Given the description of an element on the screen output the (x, y) to click on. 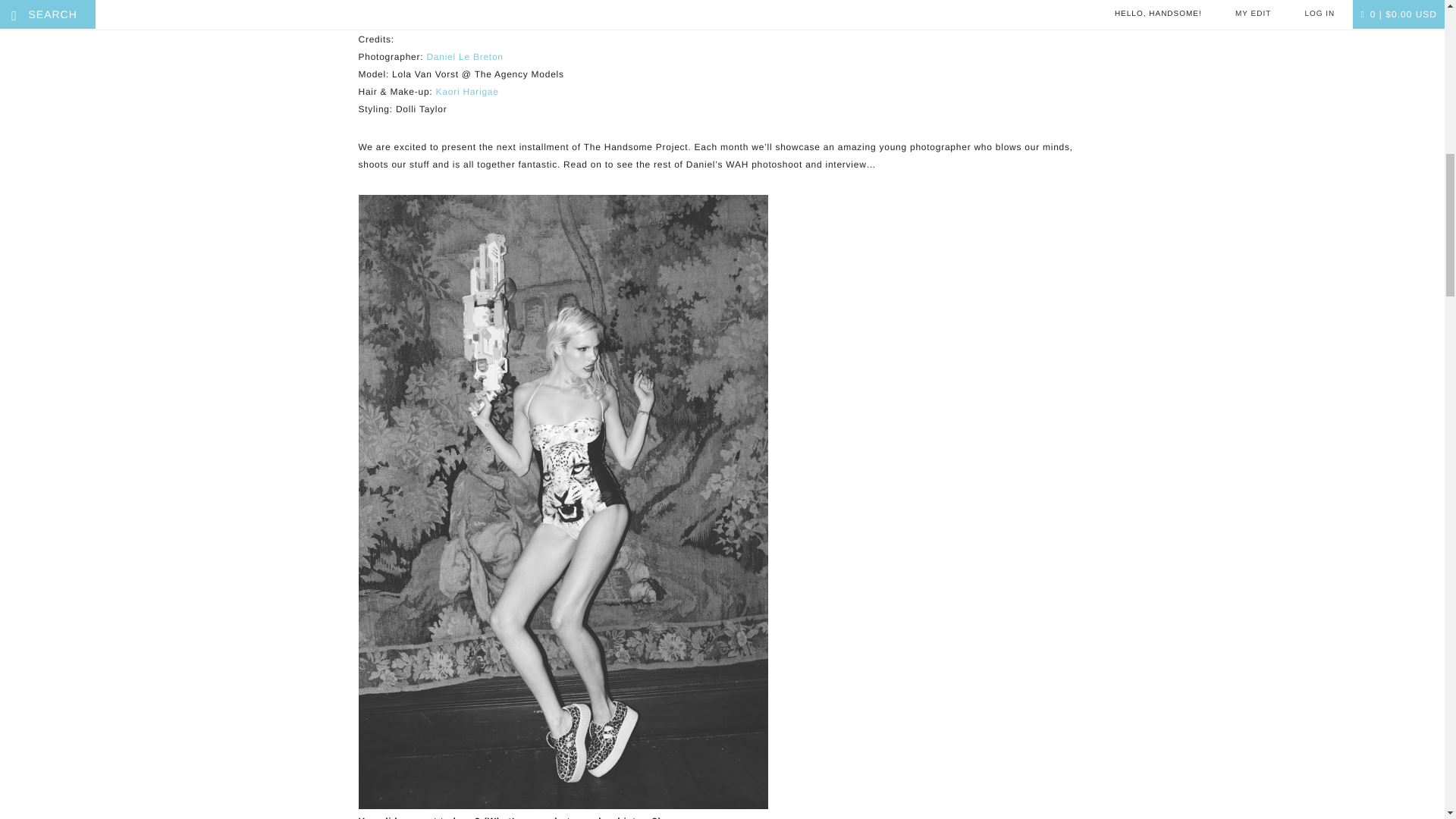
Daniel Le Breton (464, 56)
One (562, 13)
Kaori Harigae (467, 91)
